Given the description of an element on the screen output the (x, y) to click on. 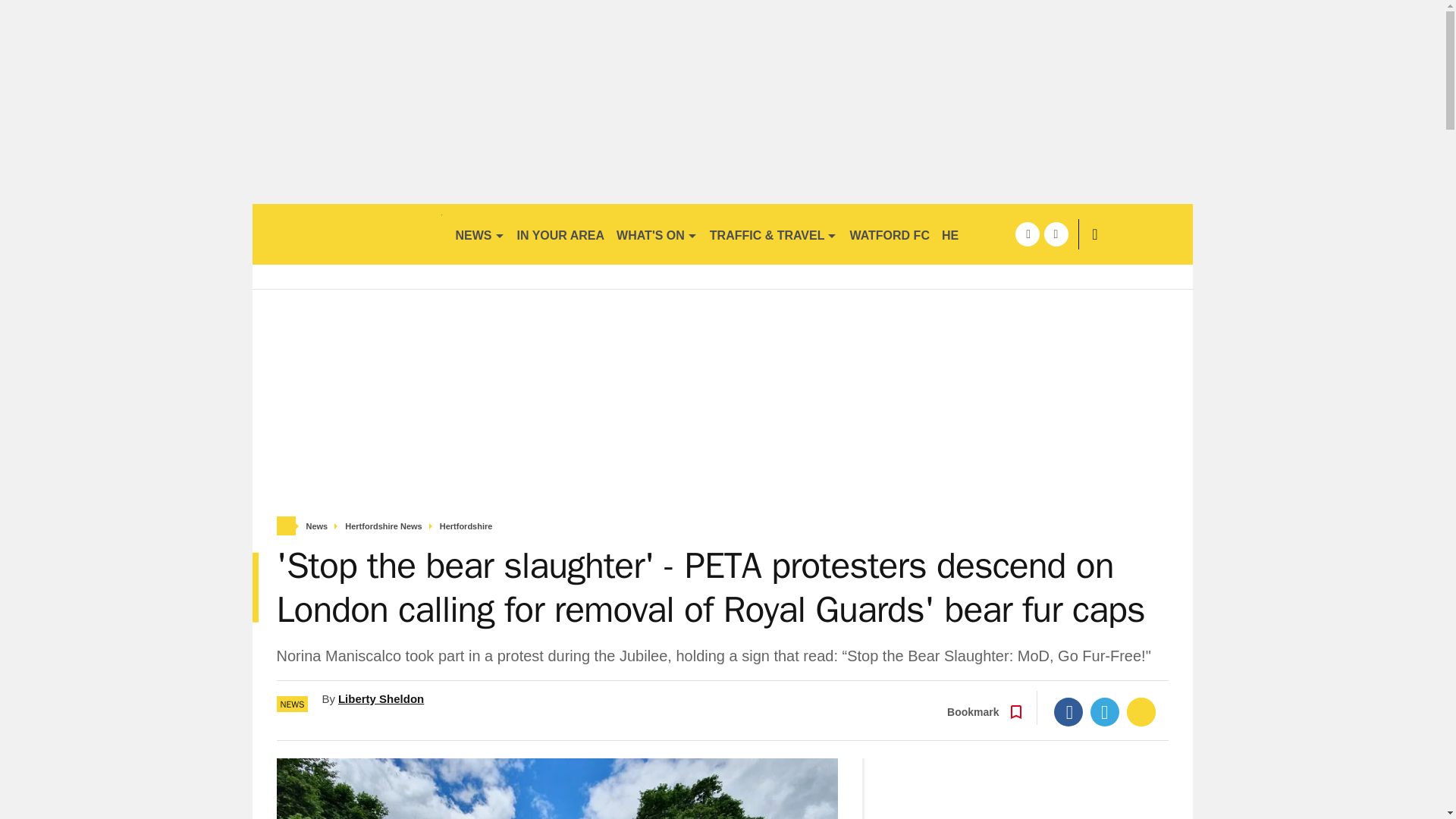
facebook (1026, 233)
WATFORD FC (888, 233)
twitter (1055, 233)
WHAT'S ON (656, 233)
Twitter (1104, 711)
NEWS (479, 233)
IN YOUR AREA (561, 233)
hertfordshiremercury (346, 233)
HEMEL HEMPSTEAD (1003, 233)
Facebook (1068, 711)
